Given the description of an element on the screen output the (x, y) to click on. 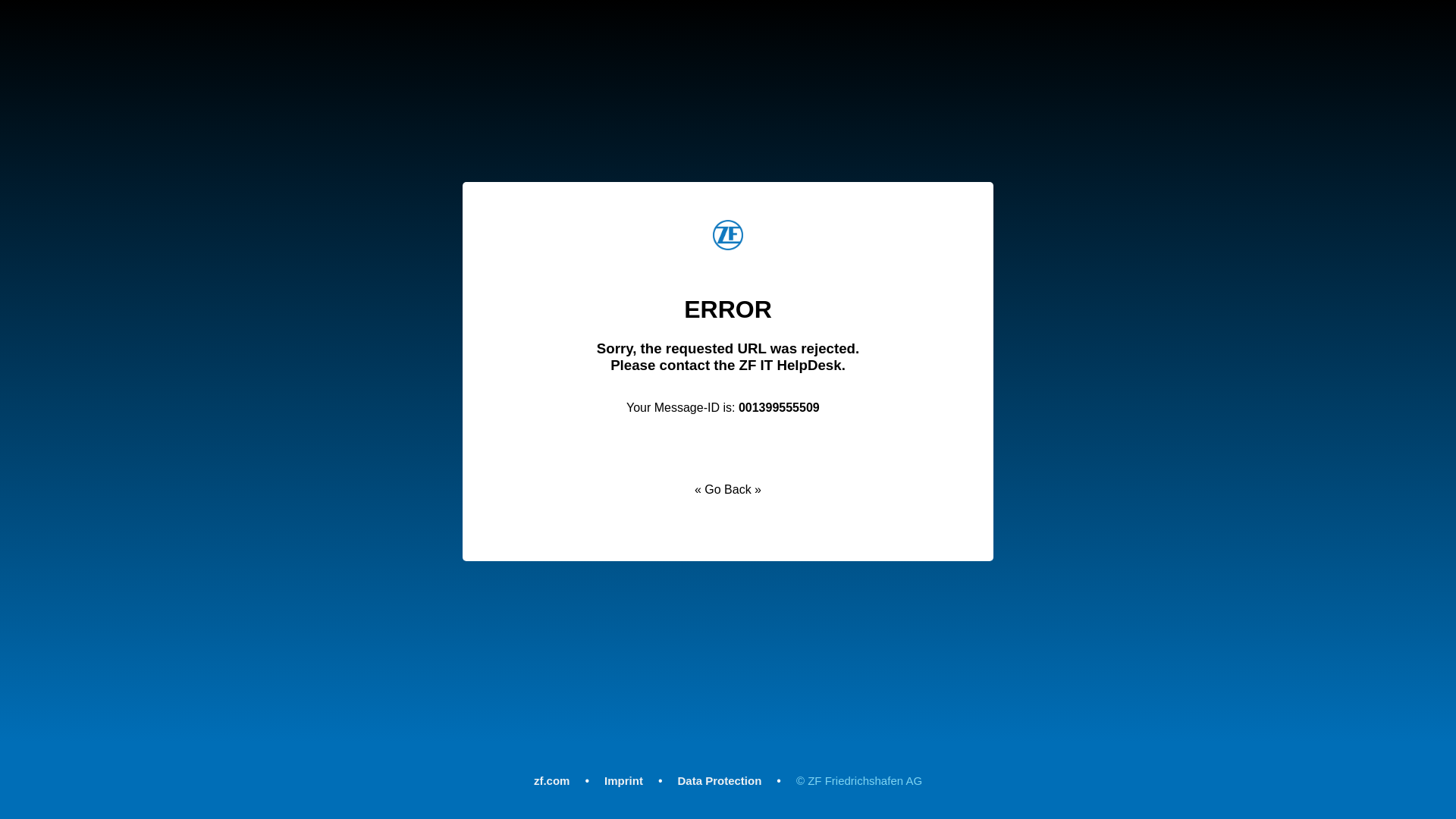
Imprint (623, 780)
Data Protection (719, 780)
zf.com (552, 780)
